Given the description of an element on the screen output the (x, y) to click on. 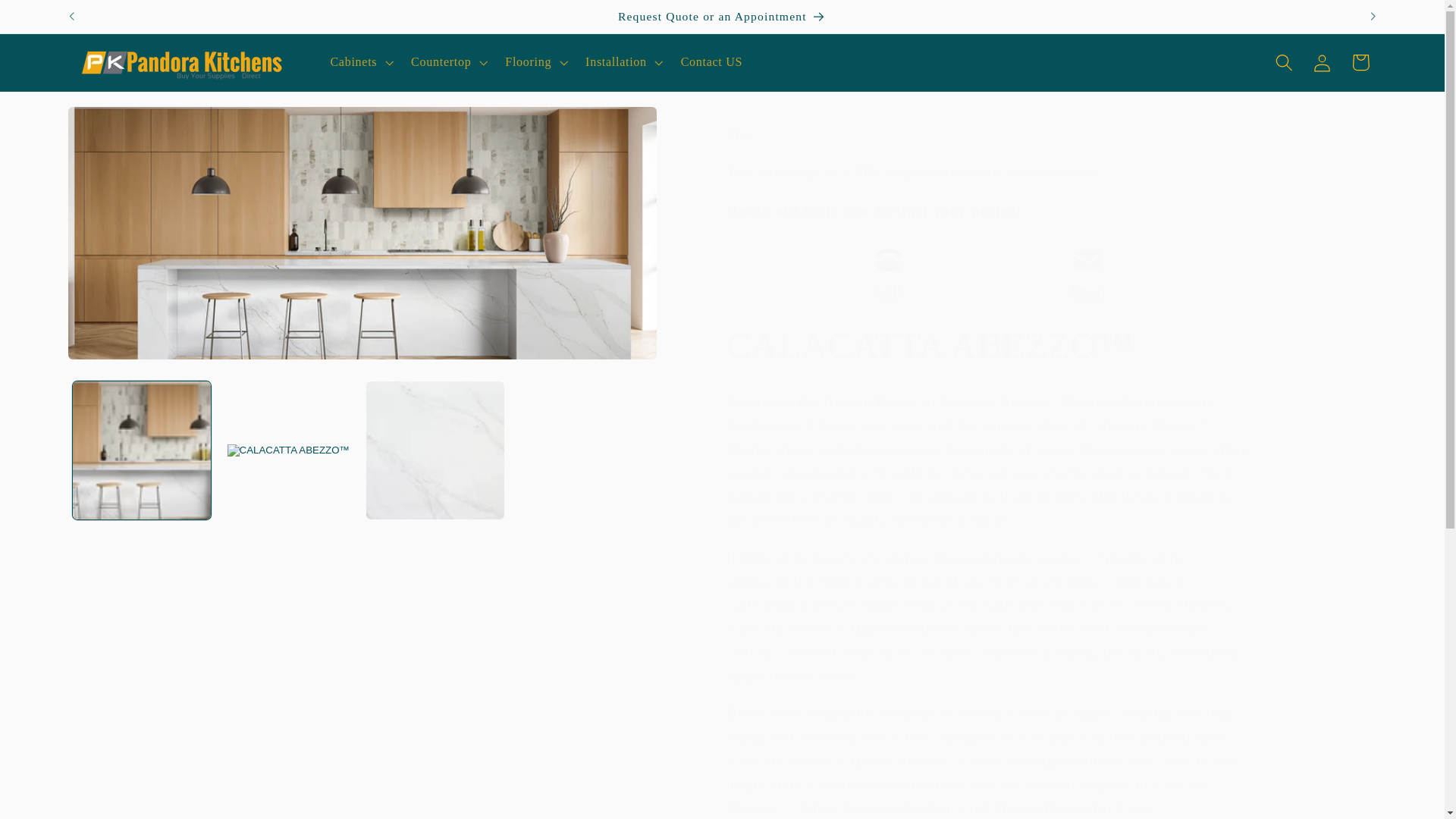
Request Quote or an Appointment (722, 16)
Skip to content (51, 19)
tel:4437171256 (888, 290)
